Given the description of an element on the screen output the (x, y) to click on. 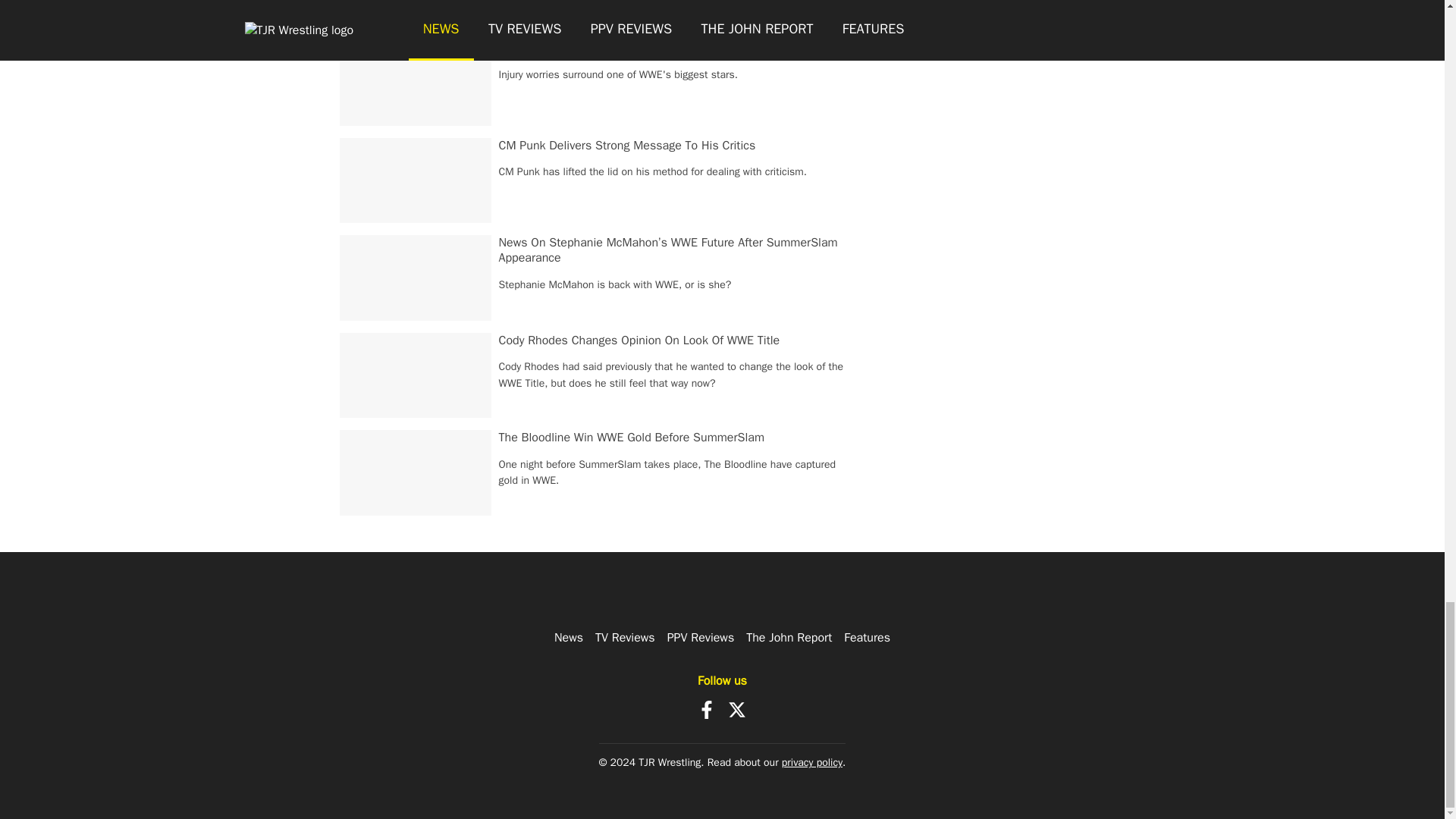
Facebook (706, 710)
CM Punk Delivers Strong Message To His Critics (627, 145)
Cody Rhodes Changes Opinion On Look Of WWE Title (639, 340)
Major WWE Star In SummerSlam Injury Scare (618, 47)
X (736, 710)
